Given the description of an element on the screen output the (x, y) to click on. 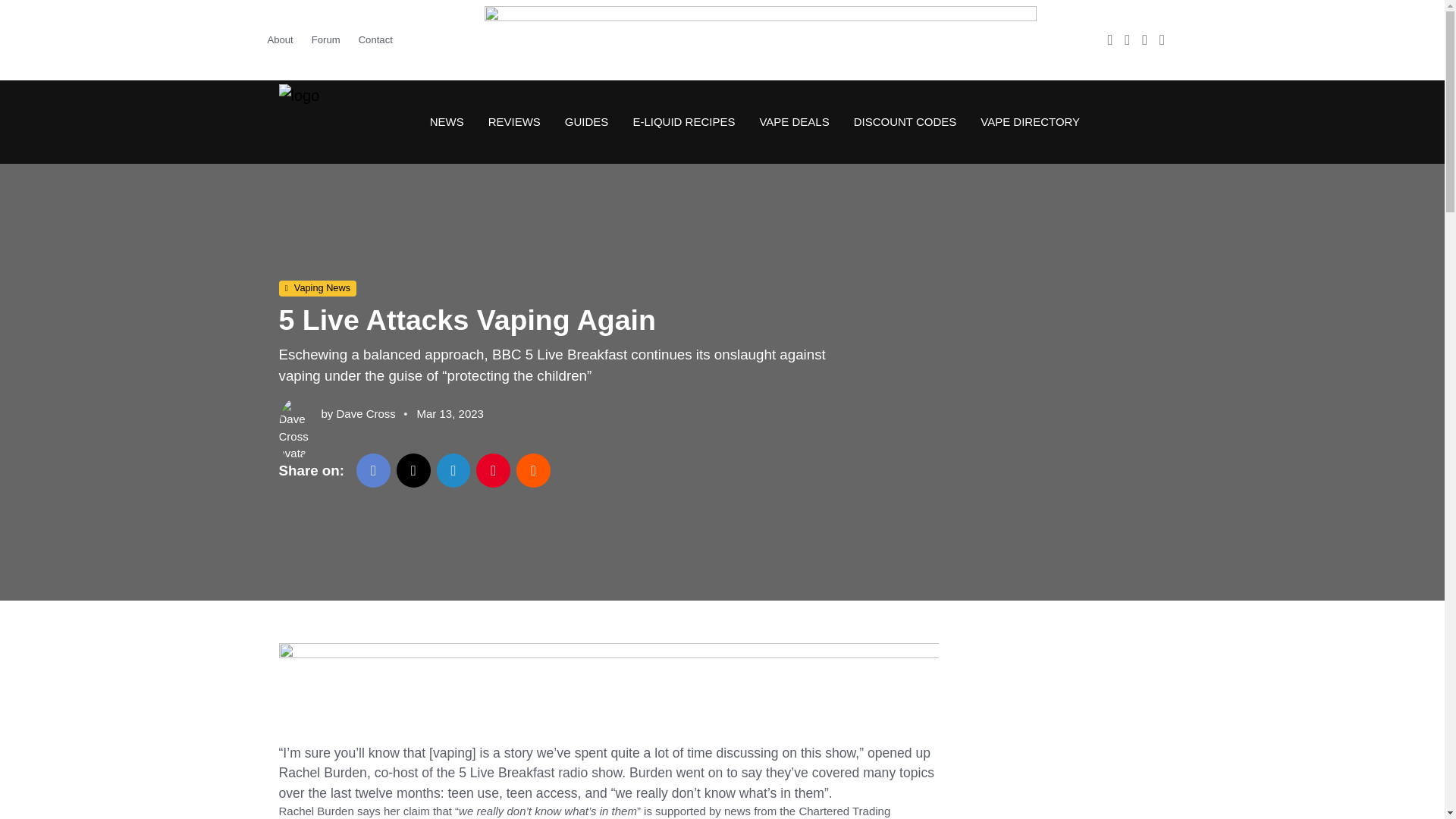
VAPE DEALS (793, 121)
VAPE DIRECTORY (1024, 121)
About (283, 39)
DISCOUNT CODES (905, 121)
Dave Cross (366, 413)
E-LIQUID RECIPES (683, 121)
Forum (325, 39)
NEWS (446, 121)
REVIEWS (514, 121)
Contact (375, 39)
